Given the description of an element on the screen output the (x, y) to click on. 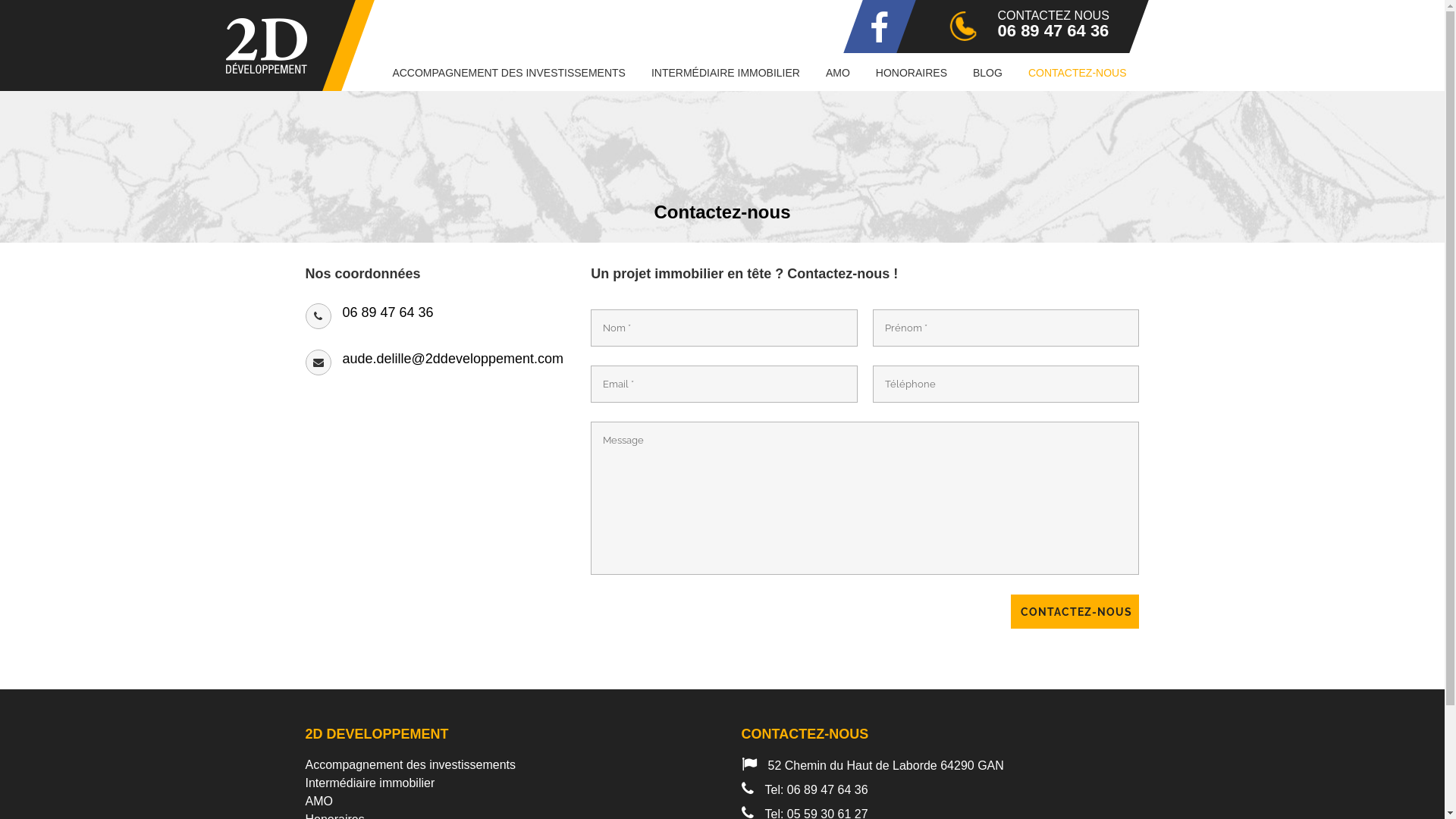
BLOG Element type: text (987, 72)
Accompagnement des investissements Element type: text (509, 764)
AMO Element type: text (509, 801)
CONTACTEZ-NOUS Element type: text (1077, 72)
ACCOMPAGNEMENT DES INVESTISSEMENTS Element type: text (508, 72)
CONTACTEZ-NOUS Element type: text (1074, 611)
HONORAIRES Element type: text (911, 72)
AMO Element type: text (837, 72)
